Given the description of an element on the screen output the (x, y) to click on. 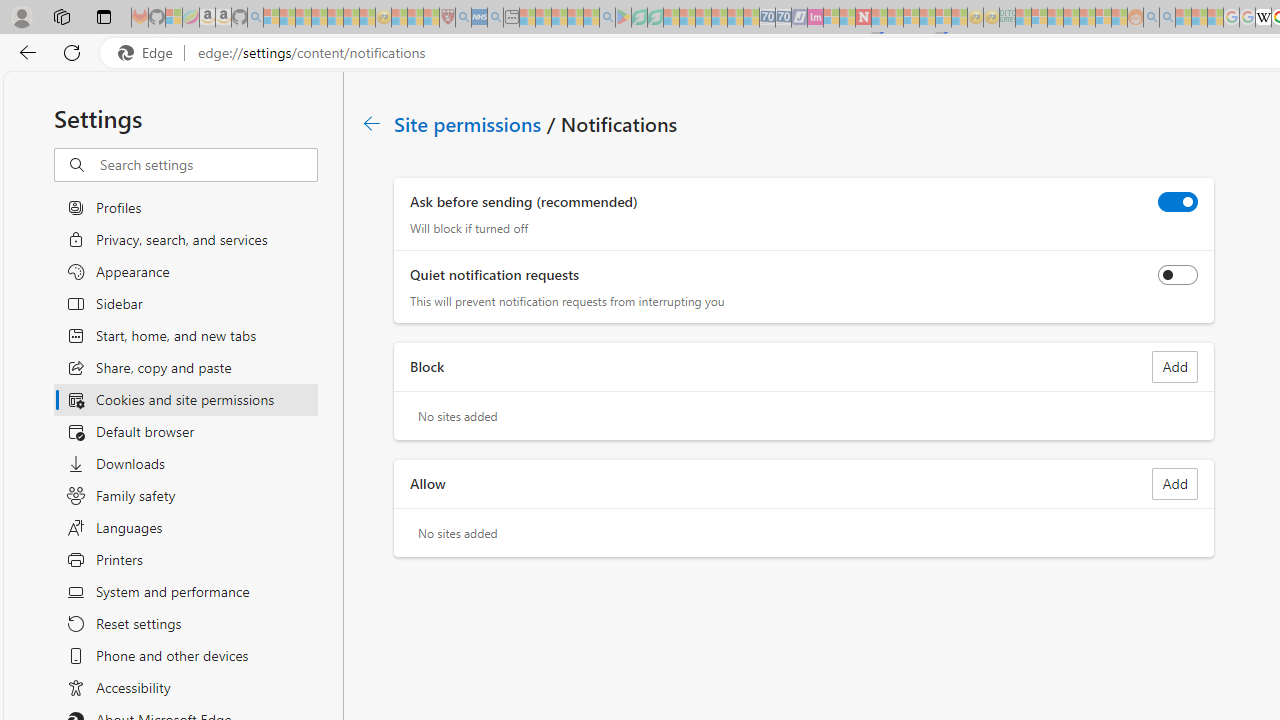
utah sues federal government - Search - Sleeping (495, 17)
Pets - MSN - Sleeping (575, 17)
Expert Portfolios - Sleeping (1071, 17)
The Weather Channel - MSN - Sleeping (303, 17)
Local - MSN - Sleeping (431, 17)
Trusted Community Engagement and Contributions | Guidelines (879, 17)
Jobs - lastminute.com Investor Portal - Sleeping (815, 17)
Ask before sending (recommended) (1178, 201)
Bluey: Let's Play! - Apps on Google Play - Sleeping (623, 17)
